Given the description of an element on the screen output the (x, y) to click on. 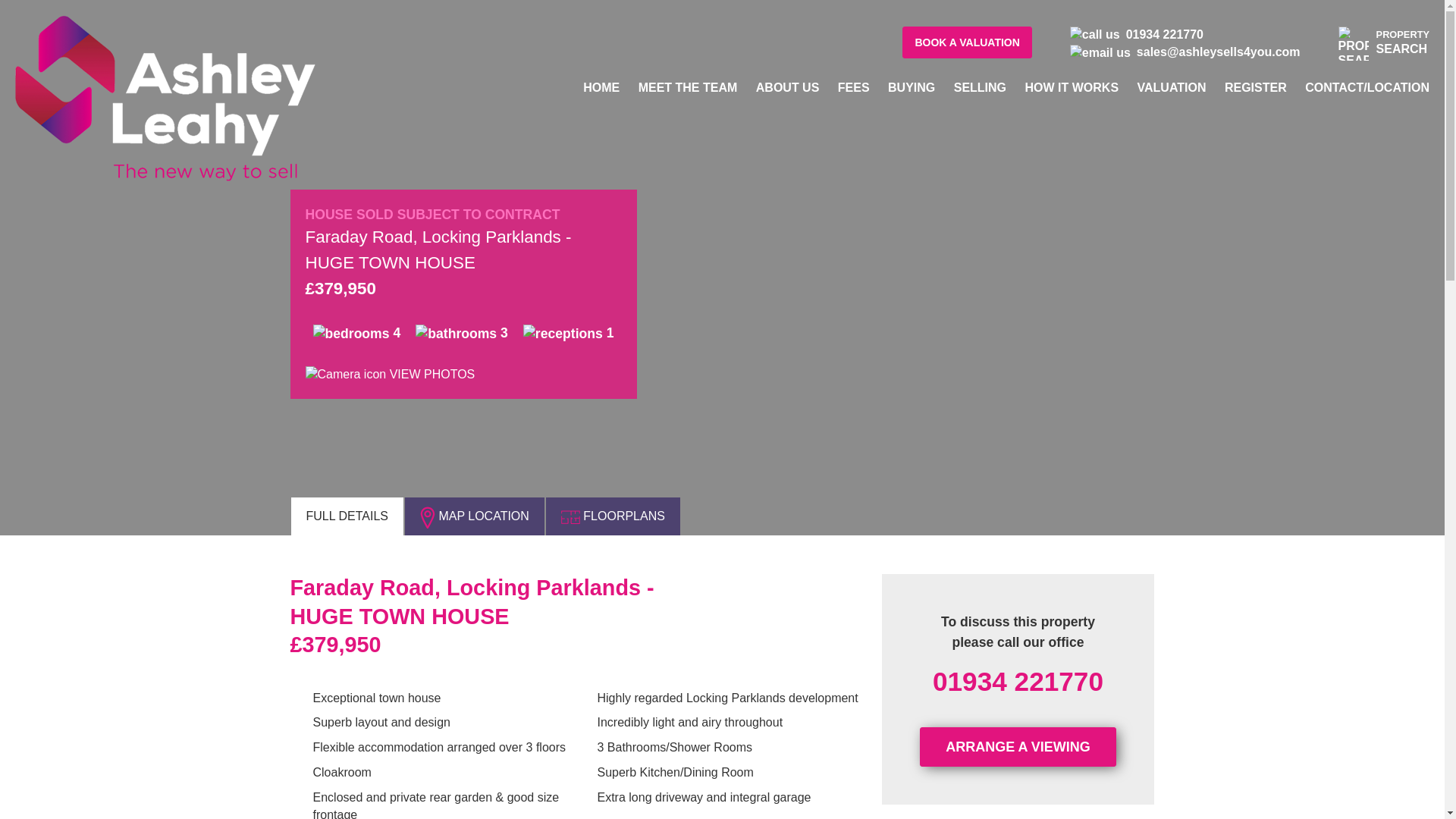
About us (787, 87)
Meet The Team (688, 87)
FEES (853, 87)
Home Page (601, 87)
VIEW PHOTOS (389, 373)
Contact Us (1366, 87)
Selling (979, 87)
01934 221770 (1018, 681)
BOOK A VALUATION (966, 42)
